Given the description of an element on the screen output the (x, y) to click on. 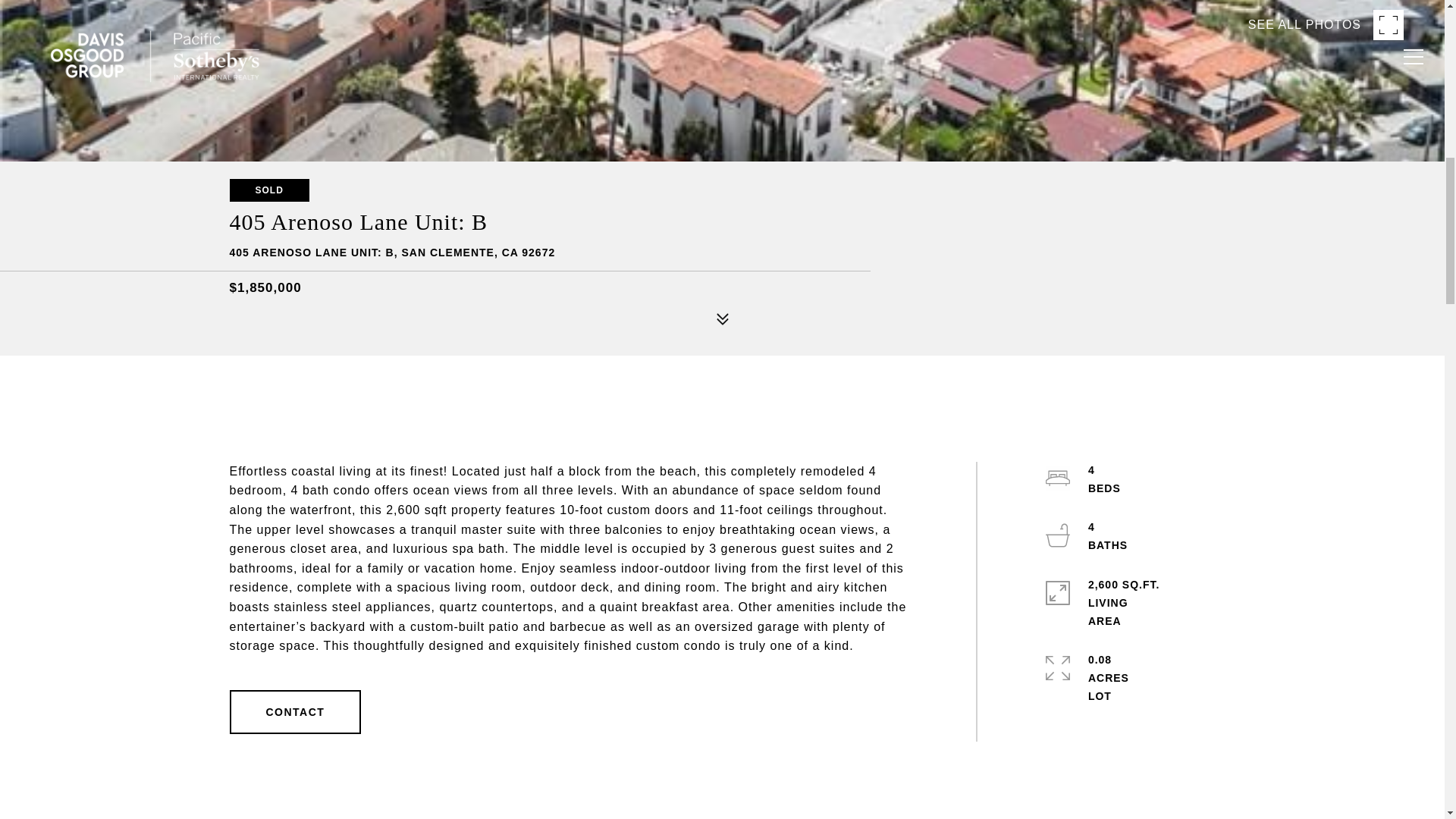
CONTACT (294, 711)
